Given the description of an element on the screen output the (x, y) to click on. 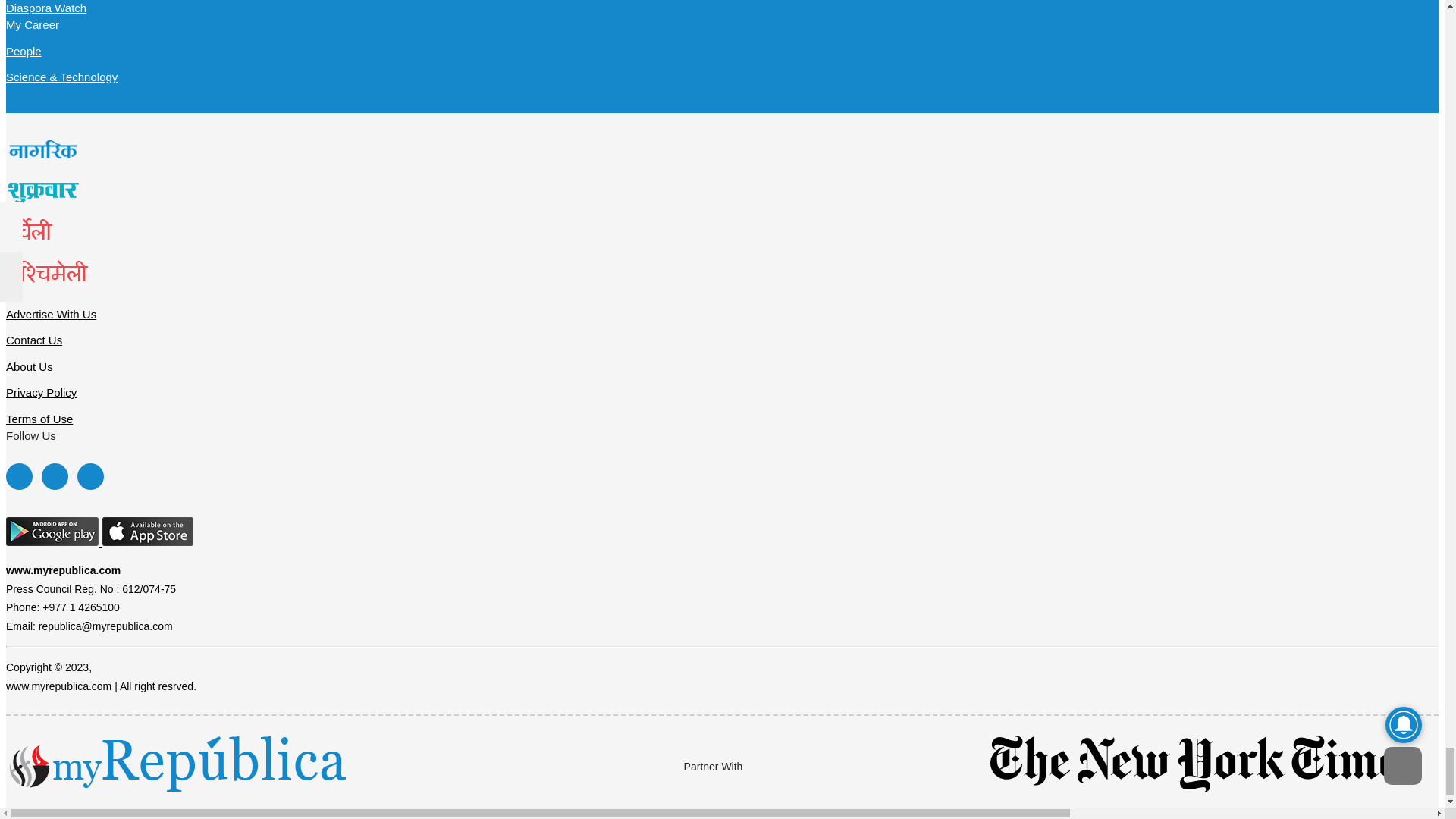
Youtube (90, 476)
Twitter (55, 476)
Facebook (18, 476)
